Given the description of an element on the screen output the (x, y) to click on. 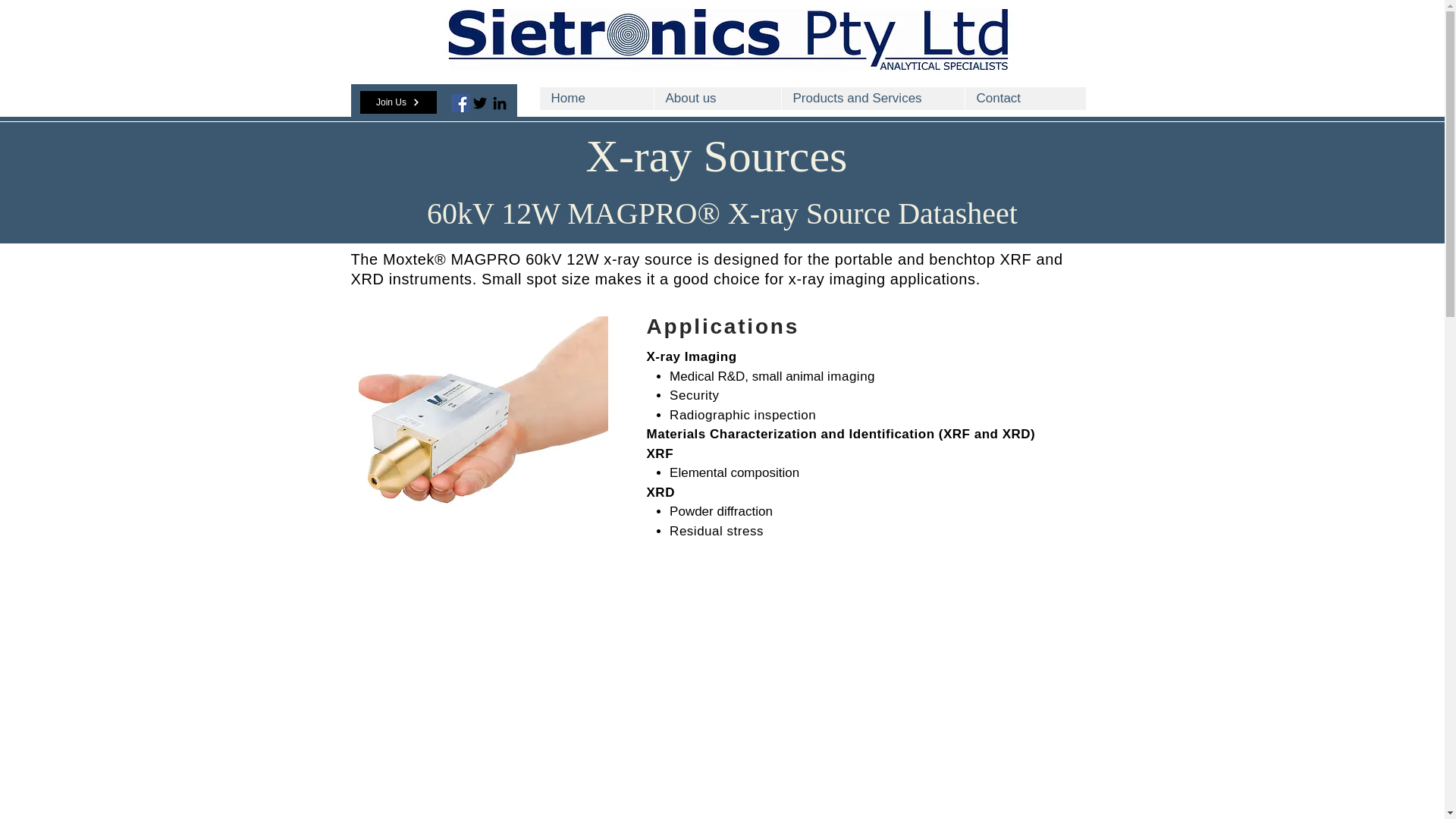
Contact (1024, 97)
Join Us (397, 101)
Home (596, 97)
About us (716, 97)
Products and Services (871, 97)
